Given the description of an element on the screen output the (x, y) to click on. 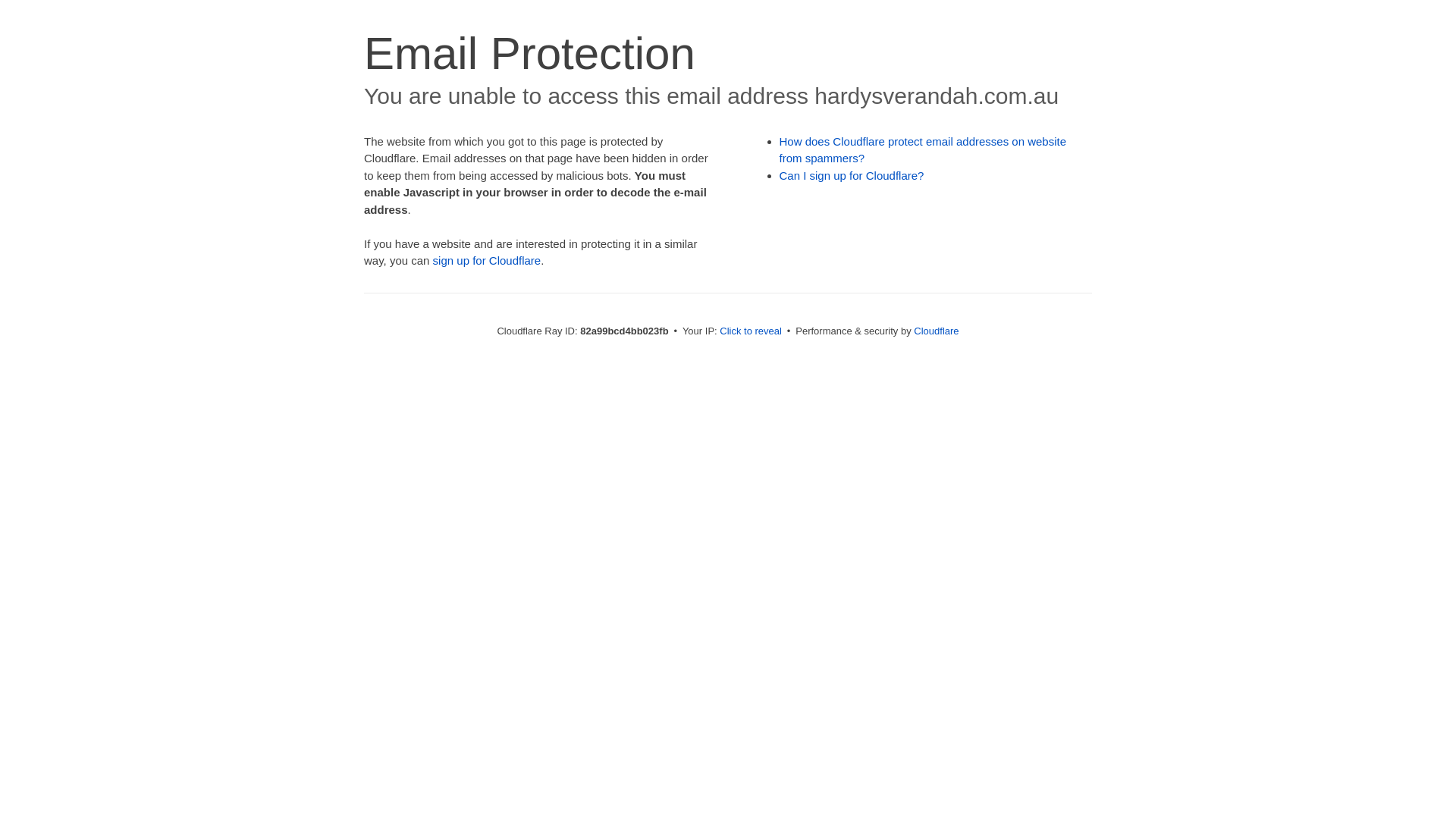
sign up for Cloudflare Element type: text (487, 260)
Click to reveal Element type: text (750, 330)
Can I sign up for Cloudflare? Element type: text (851, 175)
Cloudflare Element type: text (935, 330)
